Given the description of an element on the screen output the (x, y) to click on. 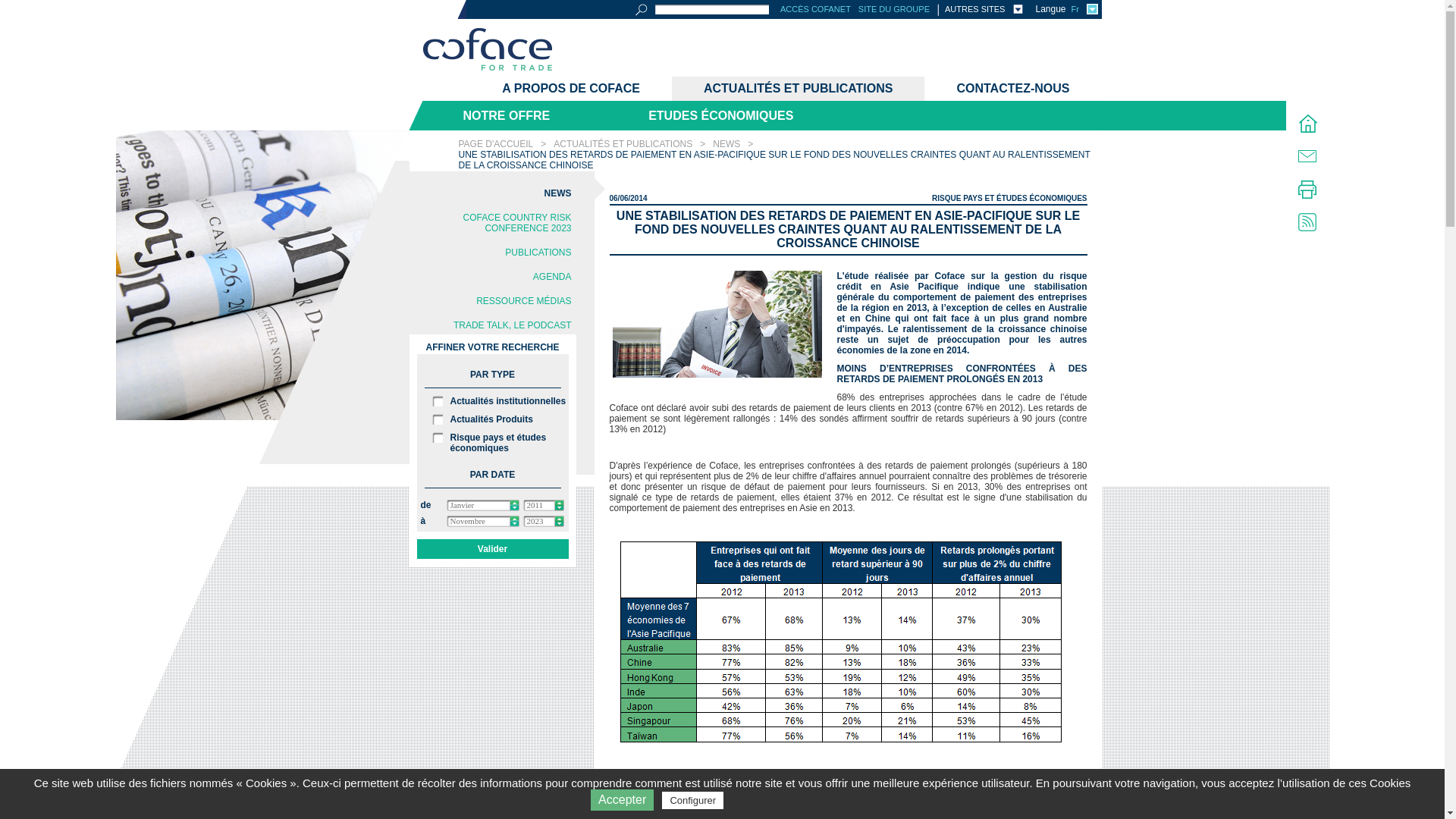
A PROPOS DE COFACE Element type: text (571, 88)
Valider Element type: text (492, 548)
TRADE TALK, LE PODCAST Element type: text (490, 325)
SITE DU GROUPE Element type: text (893, 9)
Configurer Element type: text (692, 800)
NEWS Element type: text (490, 193)
Coface Element type: hover (487, 50)
Contactez-nous Element type: hover (1306, 155)
NEWS Element type: text (726, 143)
Accepter Element type: text (621, 799)
NOTRE OFFRE Element type: text (503, 115)
PUBLICATIONS Element type: text (490, 252)
PAGE D'ACCUEIL Element type: text (495, 143)
AGENDA Element type: text (490, 276)
COFACE COUNTRY RISK CONFERENCE 2023 Element type: text (490, 222)
CONTACTEZ-NOUS Element type: text (1012, 88)
